Given the description of an element on the screen output the (x, y) to click on. 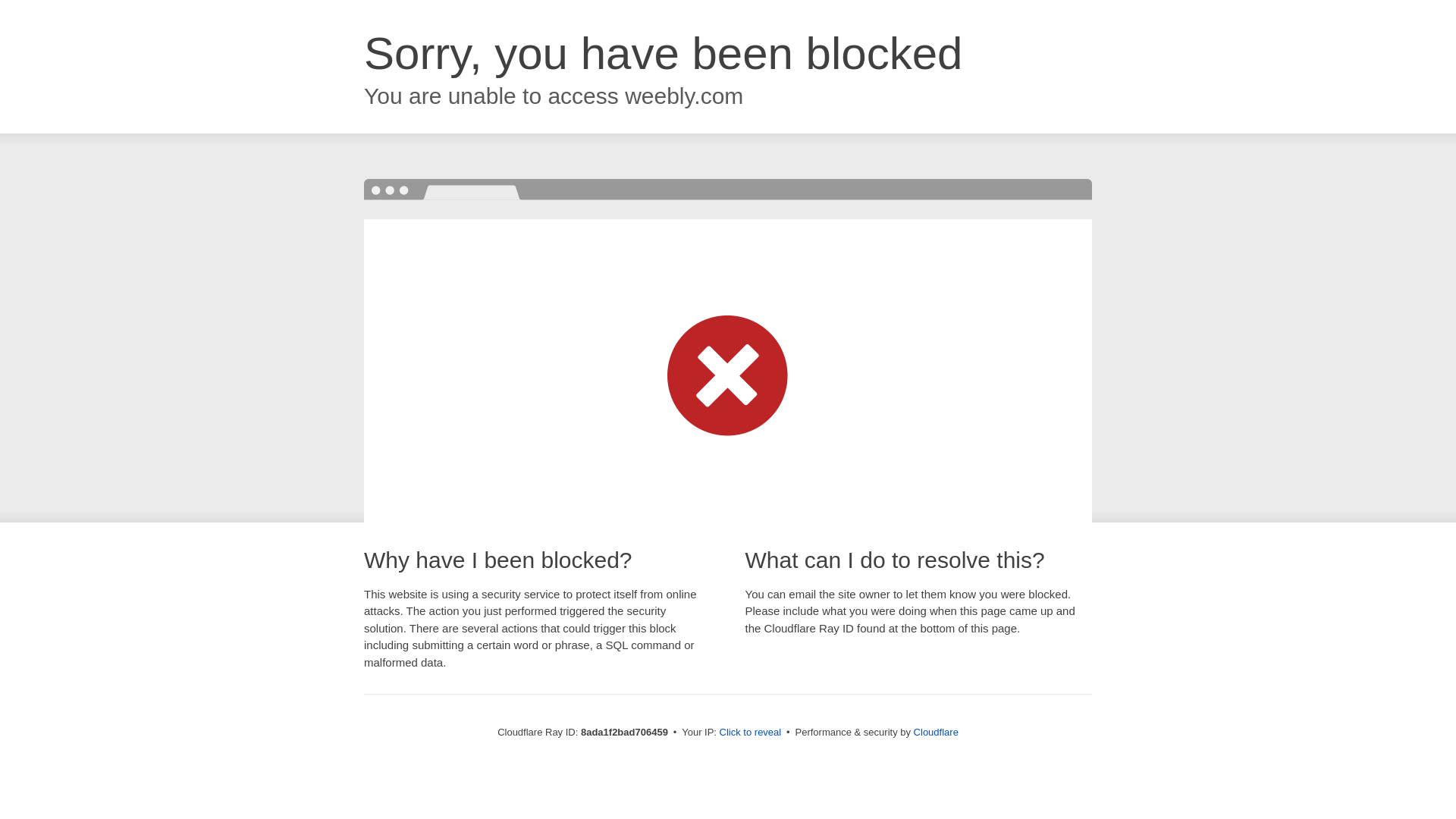
Click to reveal (750, 732)
Cloudflare (936, 731)
